Given the description of an element on the screen output the (x, y) to click on. 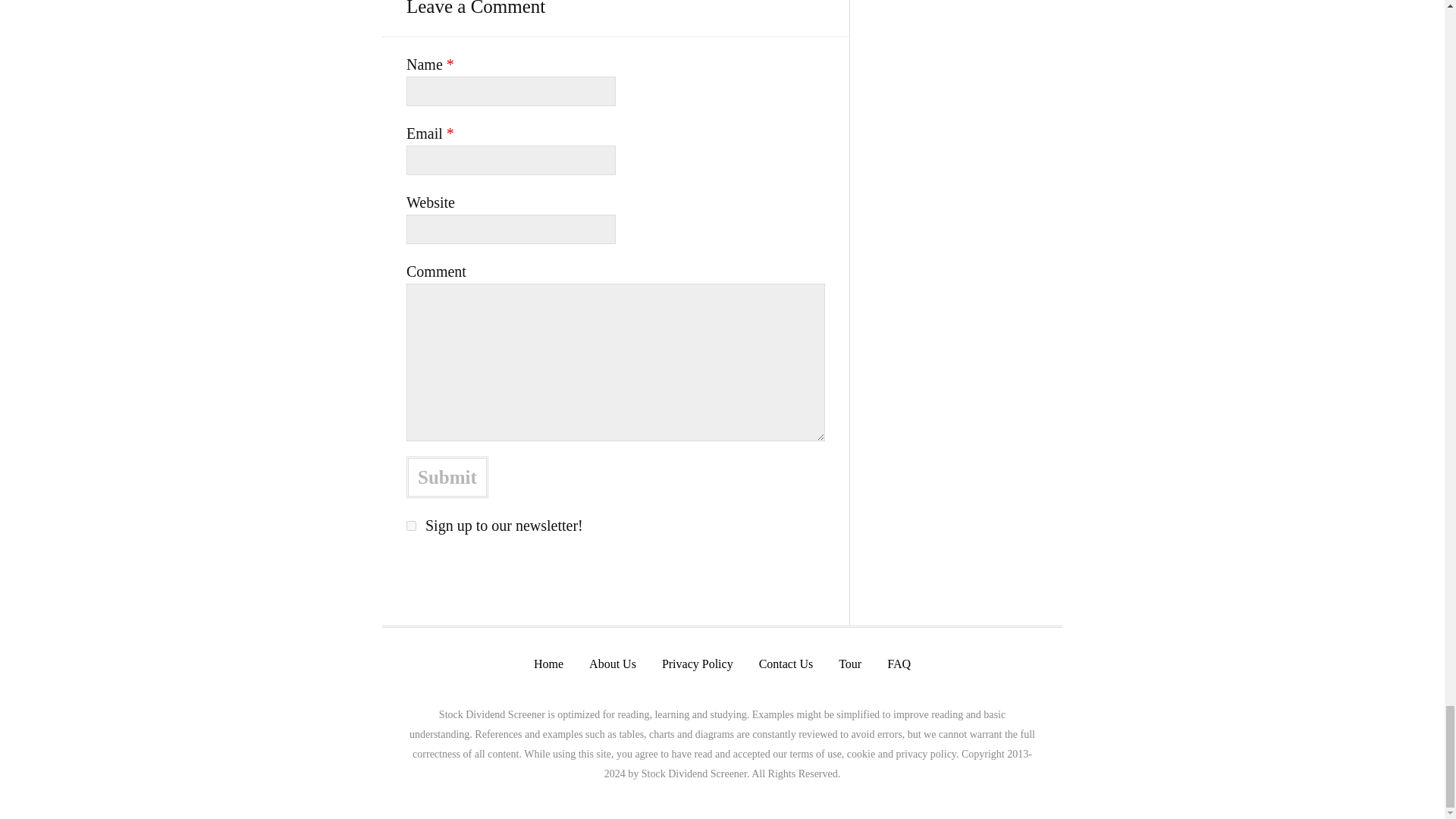
Submit (446, 476)
Submit (446, 476)
1 (411, 525)
